Given the description of an element on the screen output the (x, y) to click on. 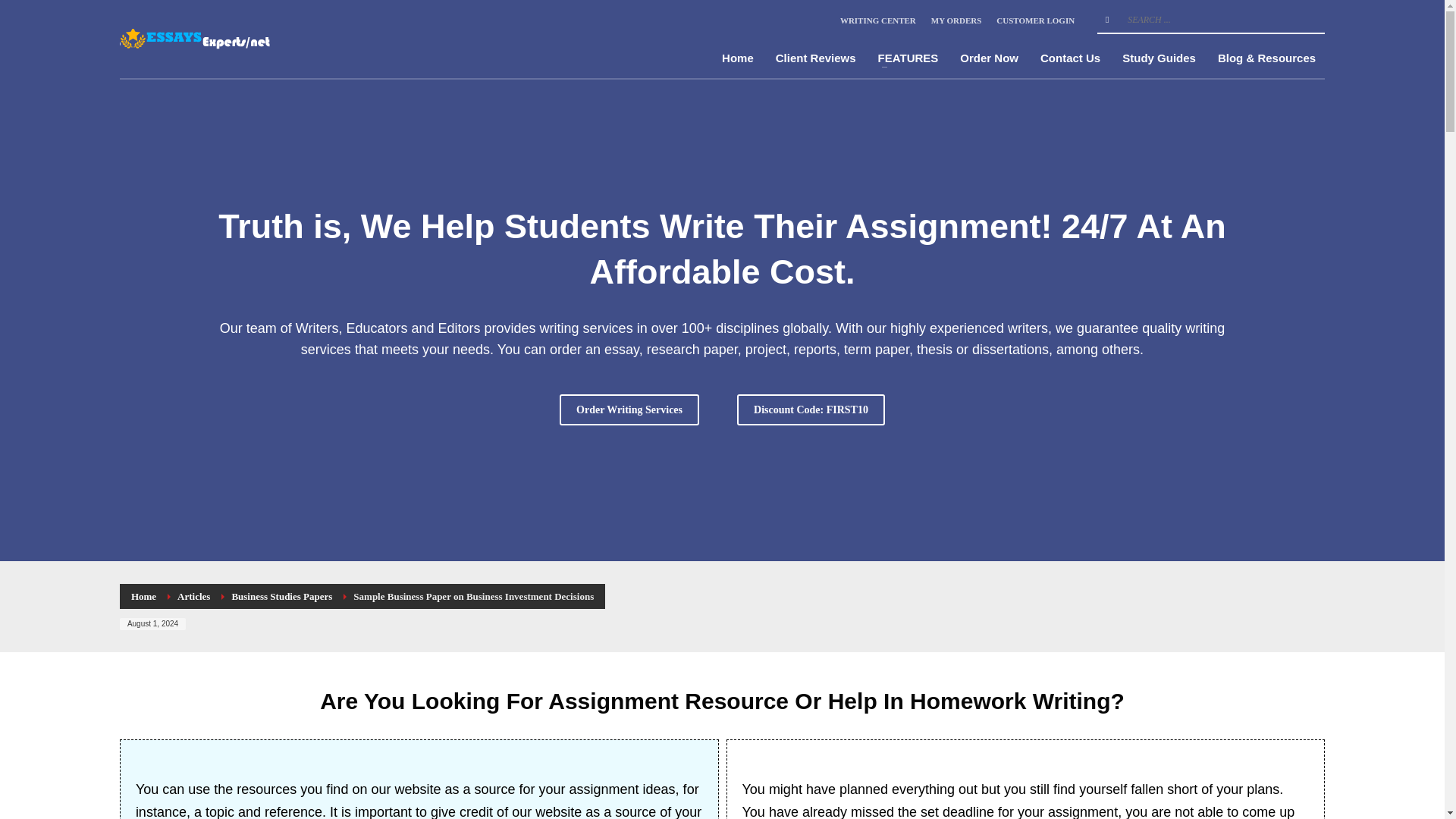
go (1107, 19)
Articles (193, 595)
Study Guides (1159, 57)
CUSTOMER LOGIN (1034, 20)
Discount Code: FIRST10 (810, 409)
Business Studies Papers (281, 595)
Order Writing Services (628, 409)
Order Now (988, 57)
MY ORDERS (956, 20)
Home (737, 57)
Home (143, 595)
Contact Us (1069, 57)
WRITING CENTER (877, 20)
FEATURES (908, 57)
Client Reviews (815, 57)
